Given the description of an element on the screen output the (x, y) to click on. 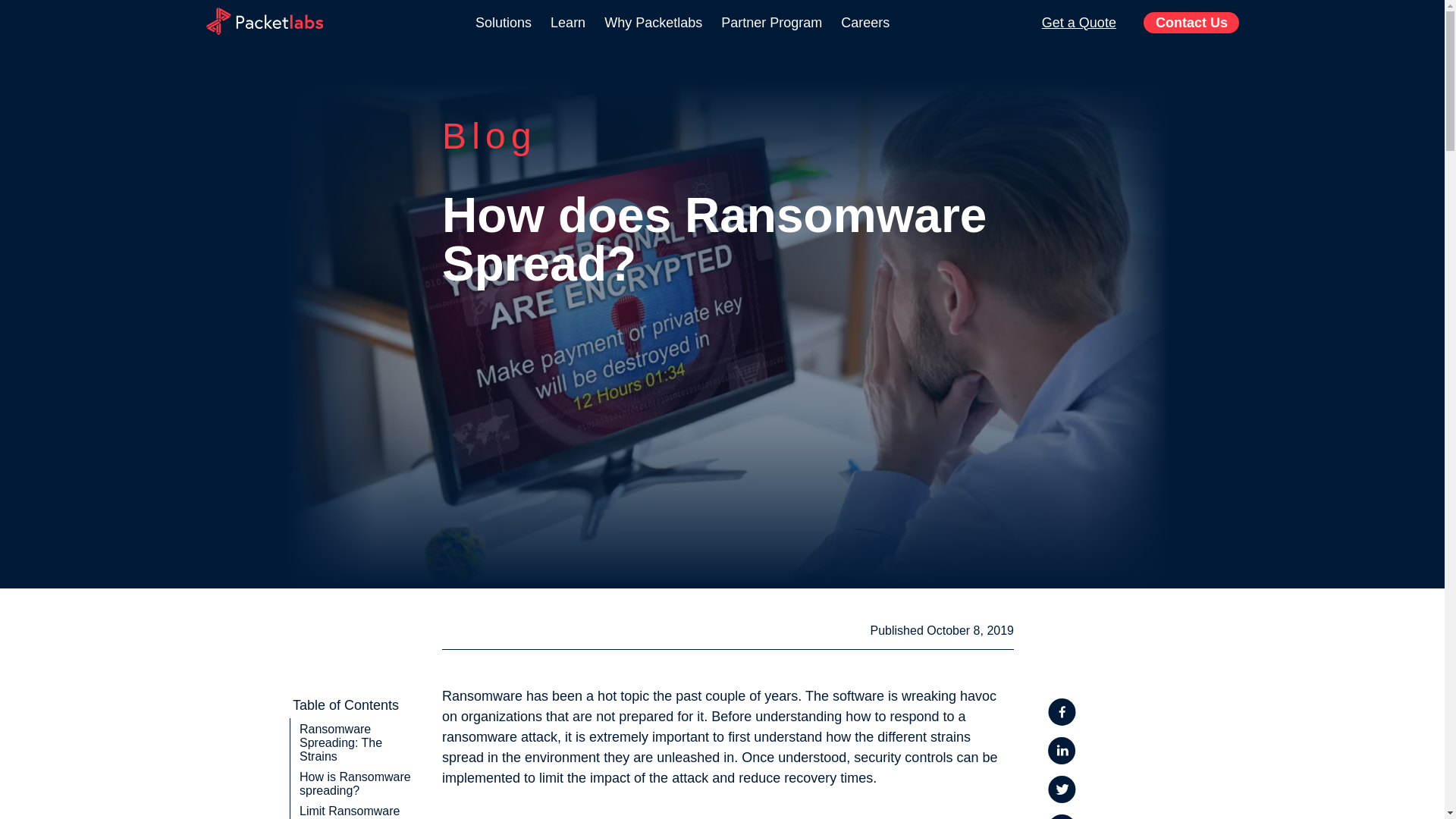
Partner Program (771, 22)
Solutions (503, 23)
Contact Us (1190, 23)
Careers (865, 22)
Learn (567, 23)
Get a Quote (1079, 22)
Why Packetlabs (652, 22)
